Given the description of an element on the screen output the (x, y) to click on. 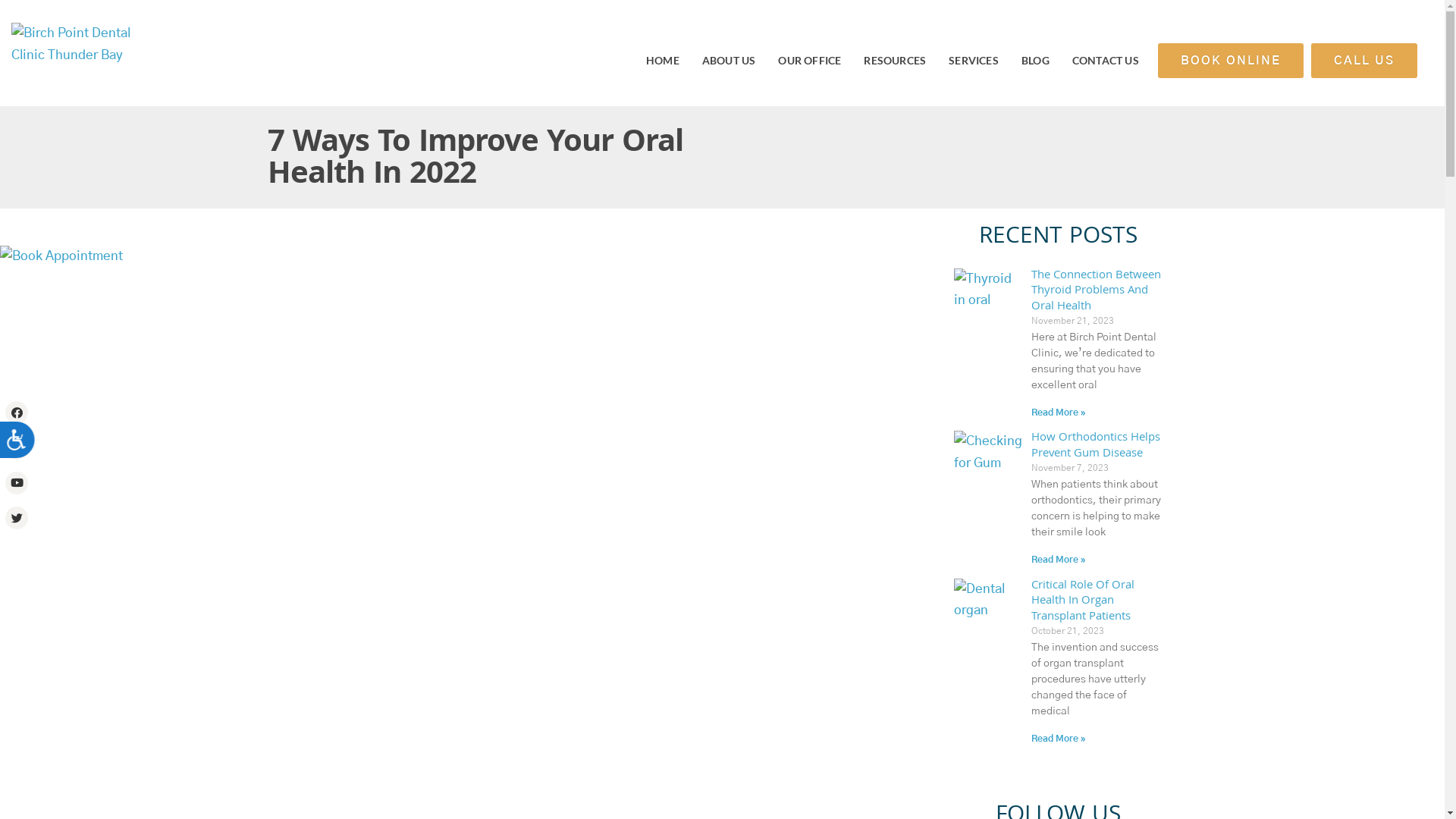
SERVICES Element type: text (973, 60)
CONTACT US Element type: text (1105, 60)
OUR OFFICE Element type: text (809, 60)
Critical Role Of Oral Health In Organ Transplant Patients Element type: text (1082, 601)
ABOUT US Element type: text (728, 60)
BOOK ONLINE Element type: text (1230, 60)
CALL US Element type: text (1364, 60)
Book Appointment Element type: hover (61, 256)
How Orthodontics Helps Prevent Gum Disease Element type: text (1095, 446)
The Connection Between Thyroid Problems And Oral Health Element type: text (1096, 291)
HOME Element type: text (662, 60)
BLOG Element type: text (1035, 60)
RESOURCES Element type: text (894, 60)
